Given the description of an element on the screen output the (x, y) to click on. 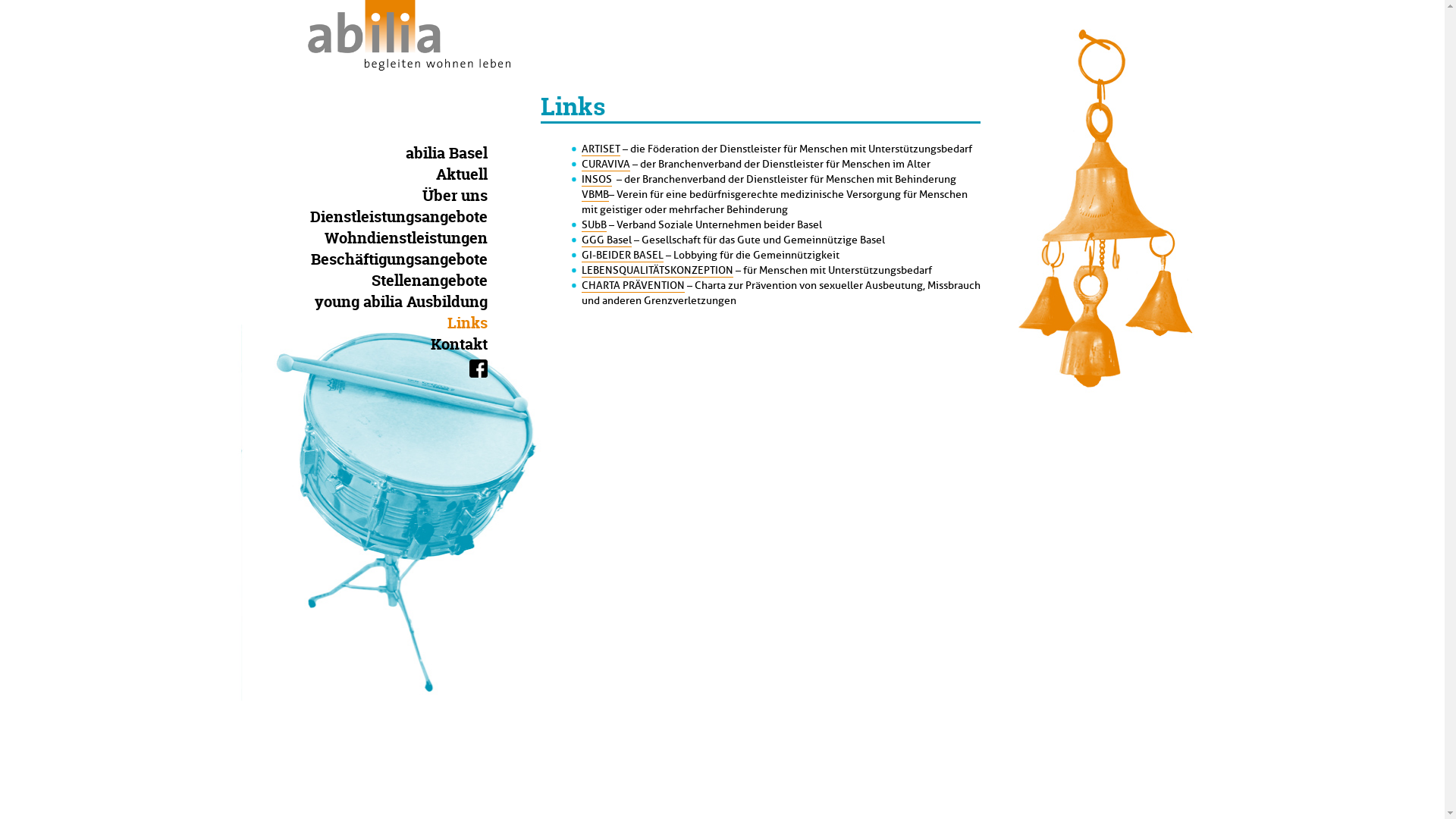
Links Element type: text (478, 322)
Dienstleistungsangebote Element type: text (409, 216)
SUbB Element type: text (592, 225)
abilia Basel Element type: text (456, 152)
GI-BEIDER BASEL Element type: text (621, 255)
Kontakt Element type: text (470, 343)
GGG Basel Element type: text (605, 240)
CURAVIVA Element type: text (604, 164)
Stellenangebote Element type: text (440, 279)
INSOS Element type: text (595, 179)
young abilia Ausbildung Element type: text (411, 301)
  Element type: text (477, 368)
Aktuell Element type: text (472, 173)
Wohndienstleistungen Element type: text (417, 237)
VBMB Element type: text (594, 194)
ARTISET Element type: text (599, 149)
